Given the description of an element on the screen output the (x, y) to click on. 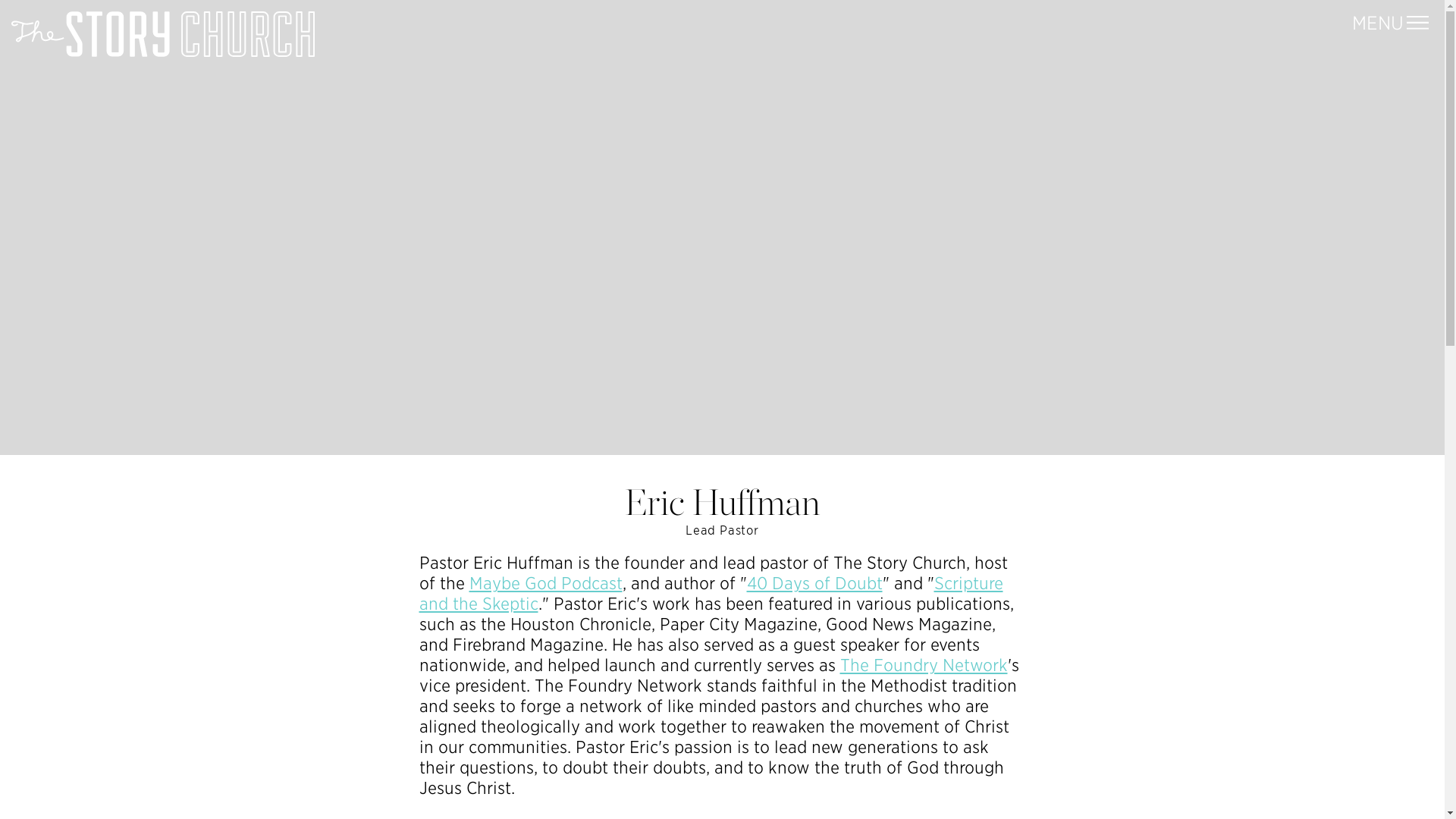
The Foundry Network (923, 664)
Scripture and the Skeptic (711, 592)
MENU (1390, 23)
40 Days of Doubt (813, 582)
Maybe God Podcast (544, 582)
